Given the description of an element on the screen output the (x, y) to click on. 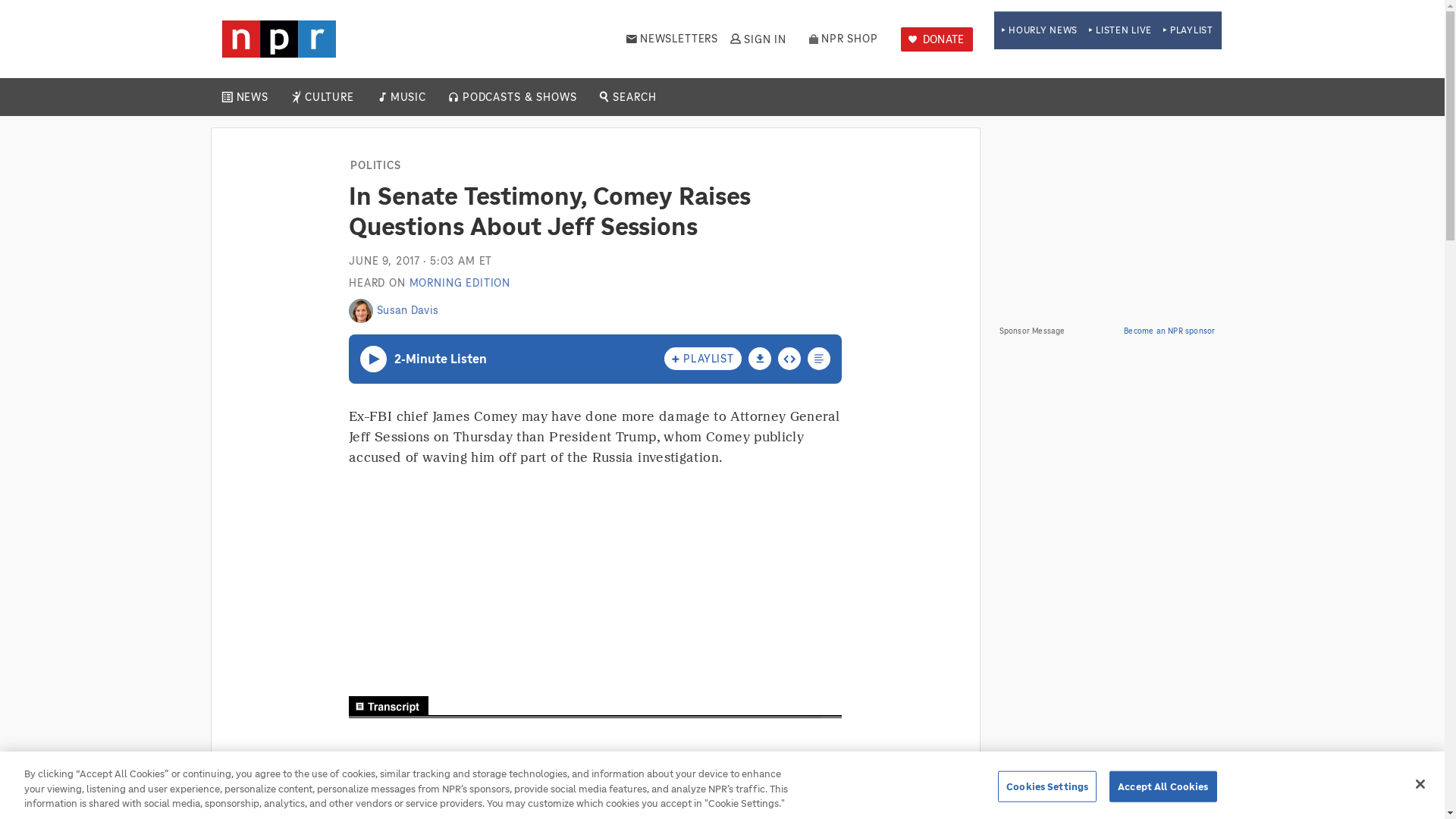
HOURLY NEWS (1039, 30)
NPR SHOP (843, 38)
MUSIC (407, 96)
LISTEN LIVE (1120, 30)
PLAYLIST (1187, 30)
DONATE (936, 39)
CULTURE (328, 96)
NEWSLETTERS (671, 38)
NEWS (251, 96)
SIGN IN (757, 38)
